Given the description of an element on the screen output the (x, y) to click on. 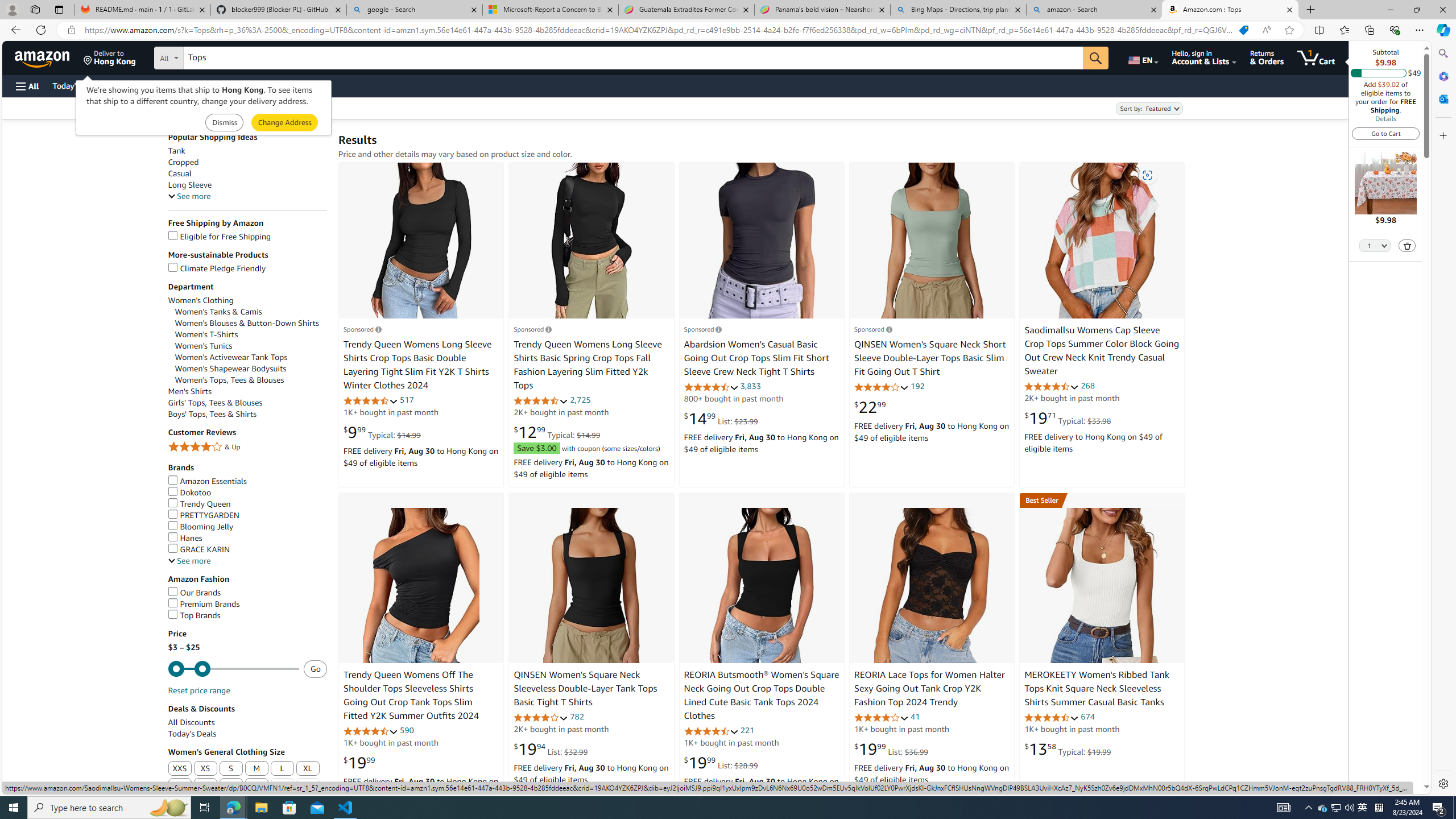
192 (917, 385)
674 (1087, 716)
L (282, 768)
Details (1385, 118)
221 (746, 729)
Casual (179, 173)
Delete (1407, 245)
XXL (179, 785)
$19.94 List: $32.99 (550, 748)
Women's Tops, Tees & Blouses (250, 379)
